Given the description of an element on the screen output the (x, y) to click on. 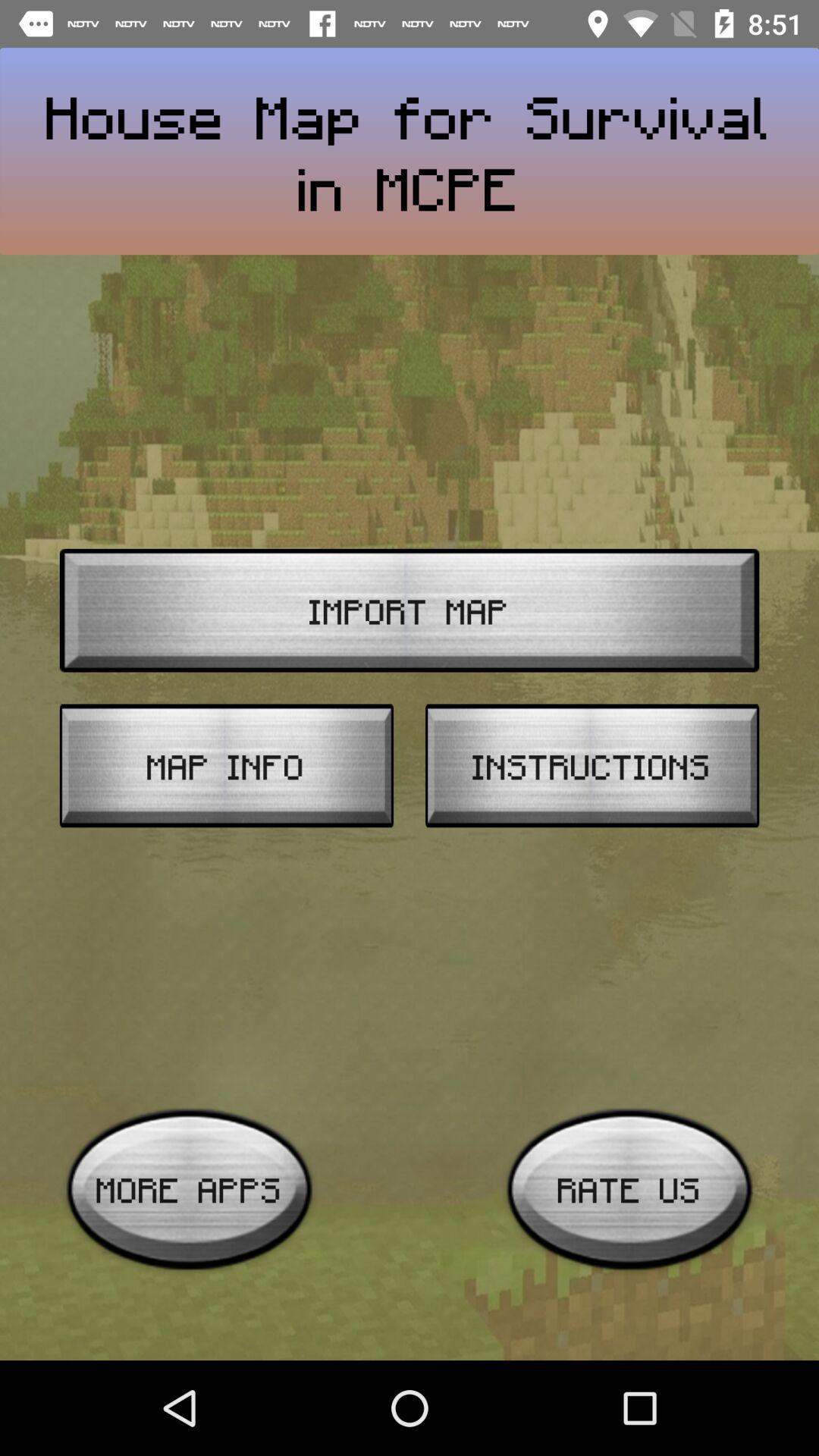
launch the item next to the rate us (189, 1188)
